Given the description of an element on the screen output the (x, y) to click on. 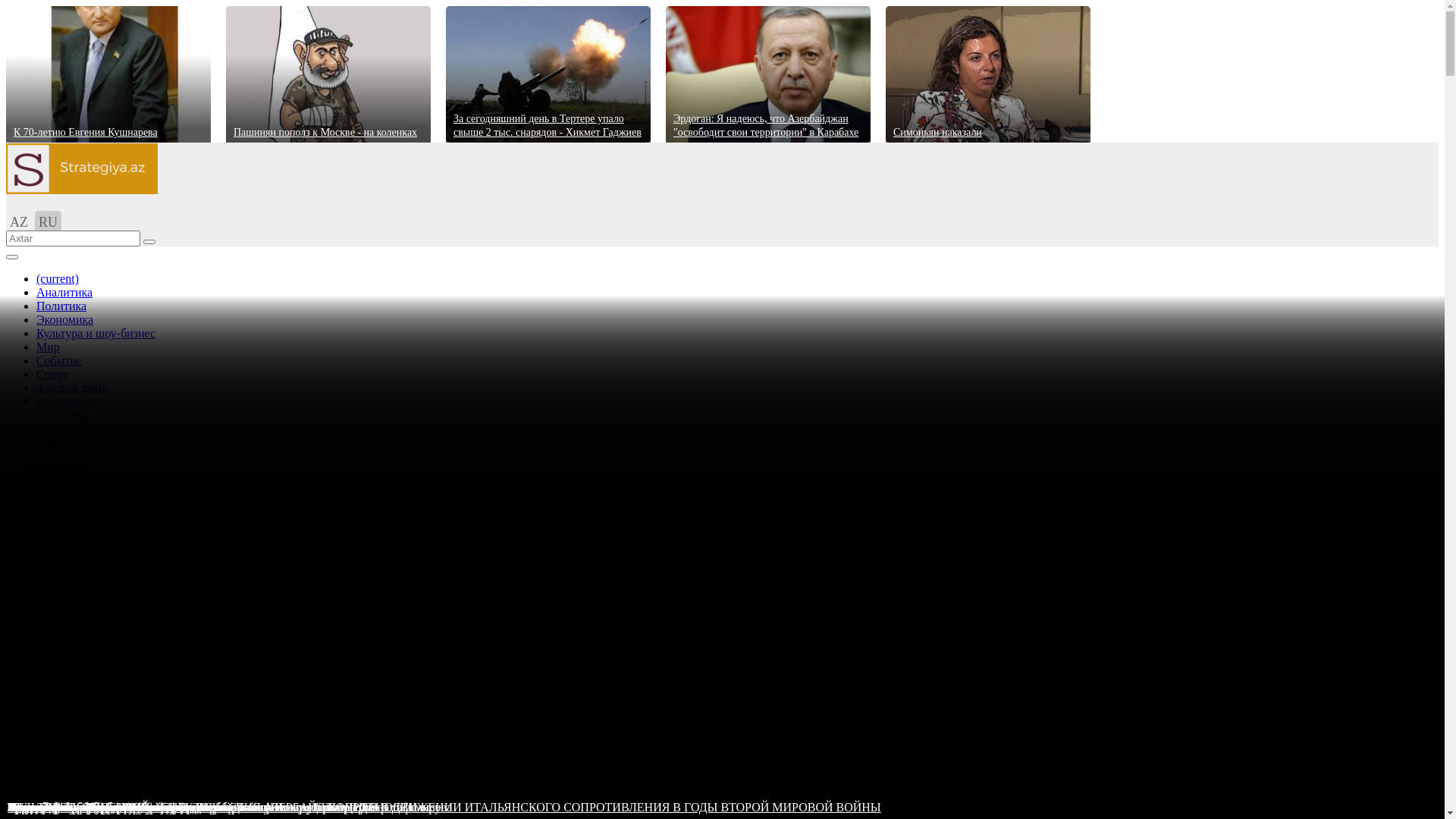
AZ Element type: text (18, 221)
Foto Element type: text (47, 428)
RU Element type: text (47, 221)
Video Element type: text (50, 442)
(current) Element type: text (57, 278)
